Given the description of an element on the screen output the (x, y) to click on. 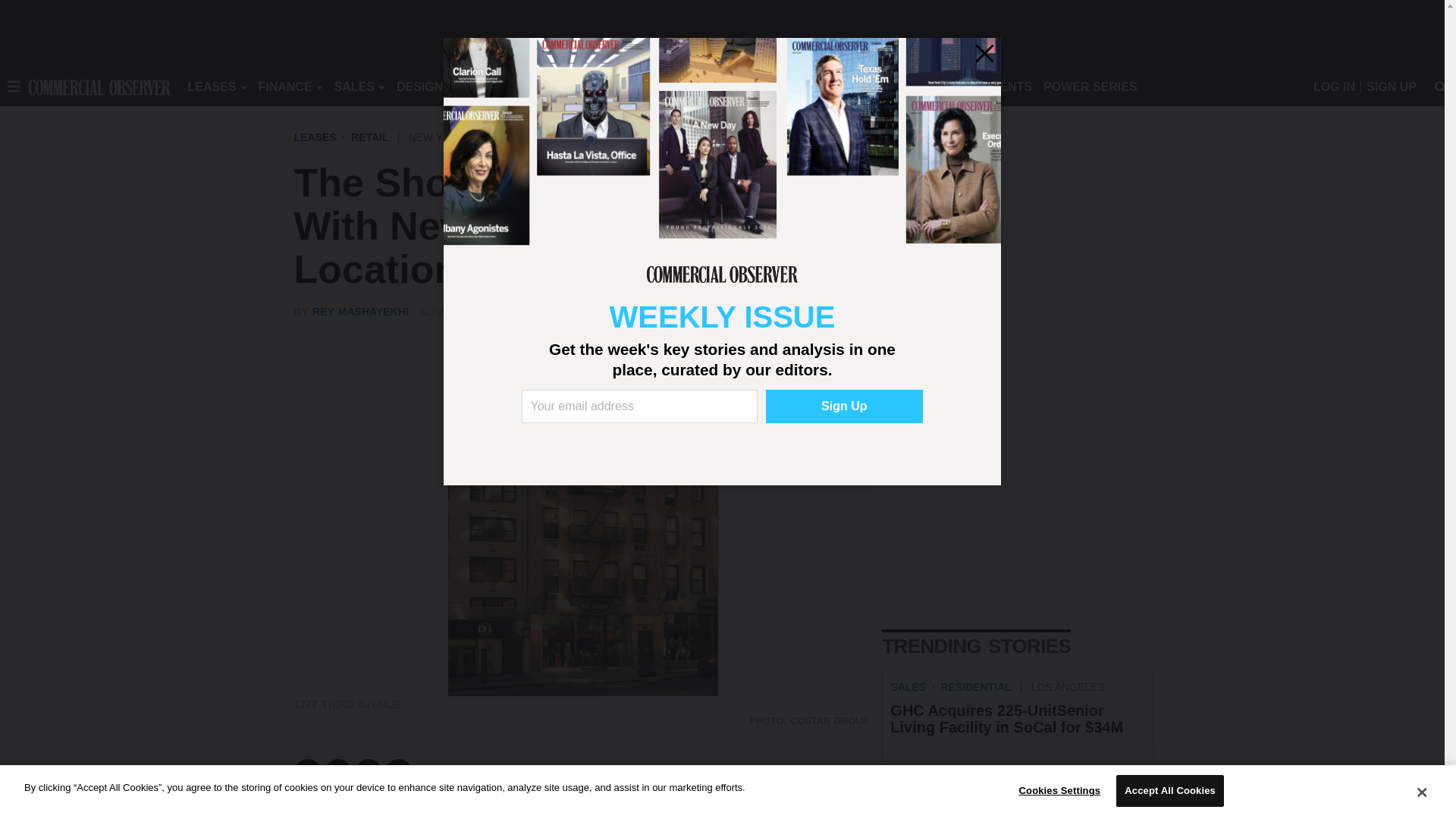
MORE (691, 86)
Tweet (338, 772)
FINANCE (286, 86)
LEASES (211, 86)
Posts by Rey Mashayekhi (361, 311)
SALES (354, 86)
Share on Facebook (307, 772)
Send email (398, 772)
TECHNOLOGY (619, 86)
Commercial Observer Home (98, 86)
Share on LinkedIn (368, 772)
